Given the description of an element on the screen output the (x, y) to click on. 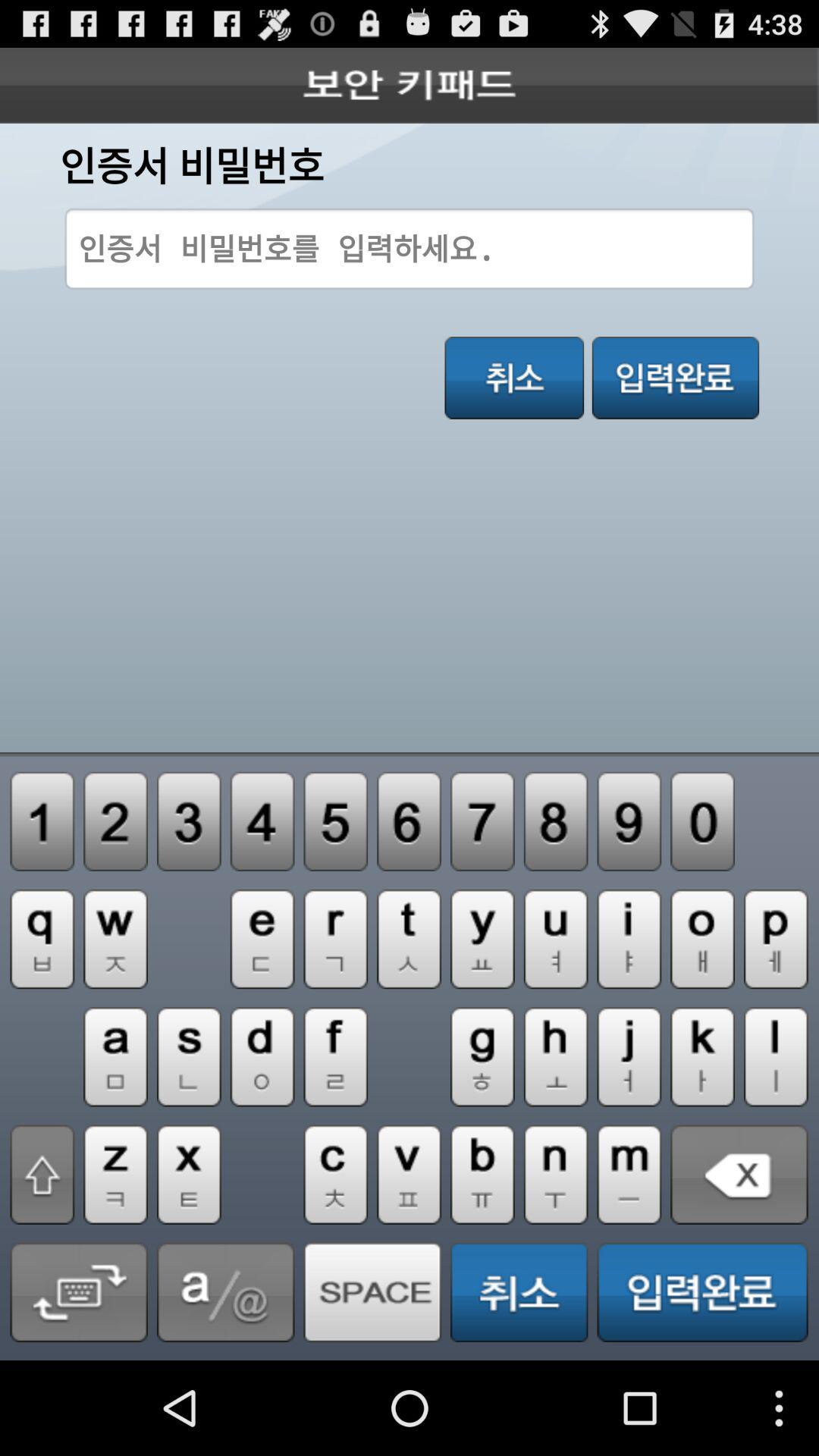
click item at the top right corner (675, 377)
